Given the description of an element on the screen output the (x, y) to click on. 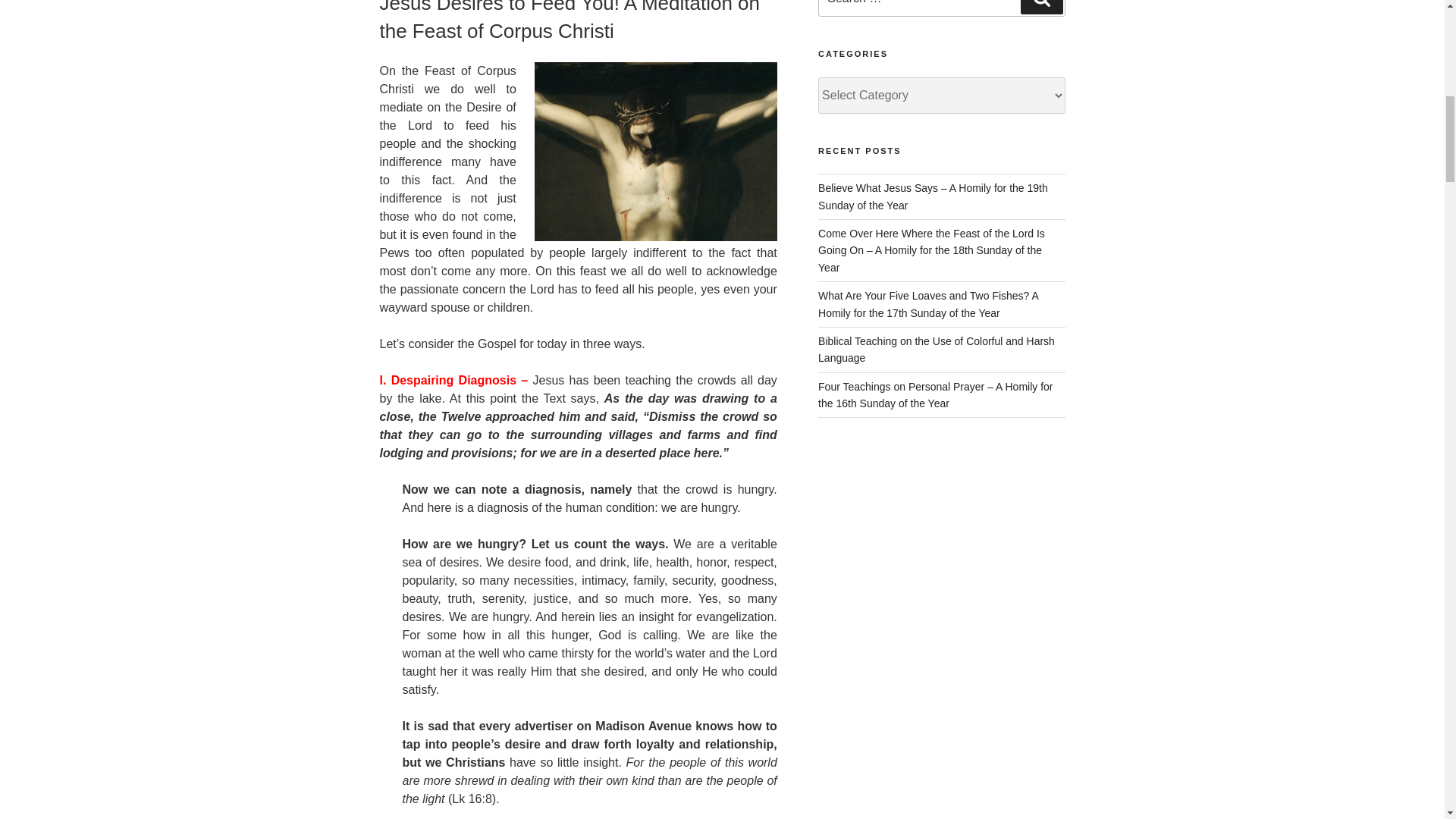
Biblical Teaching on the Use of Colorful and Harsh Language (936, 348)
Search (1041, 7)
